Given the description of an element on the screen output the (x, y) to click on. 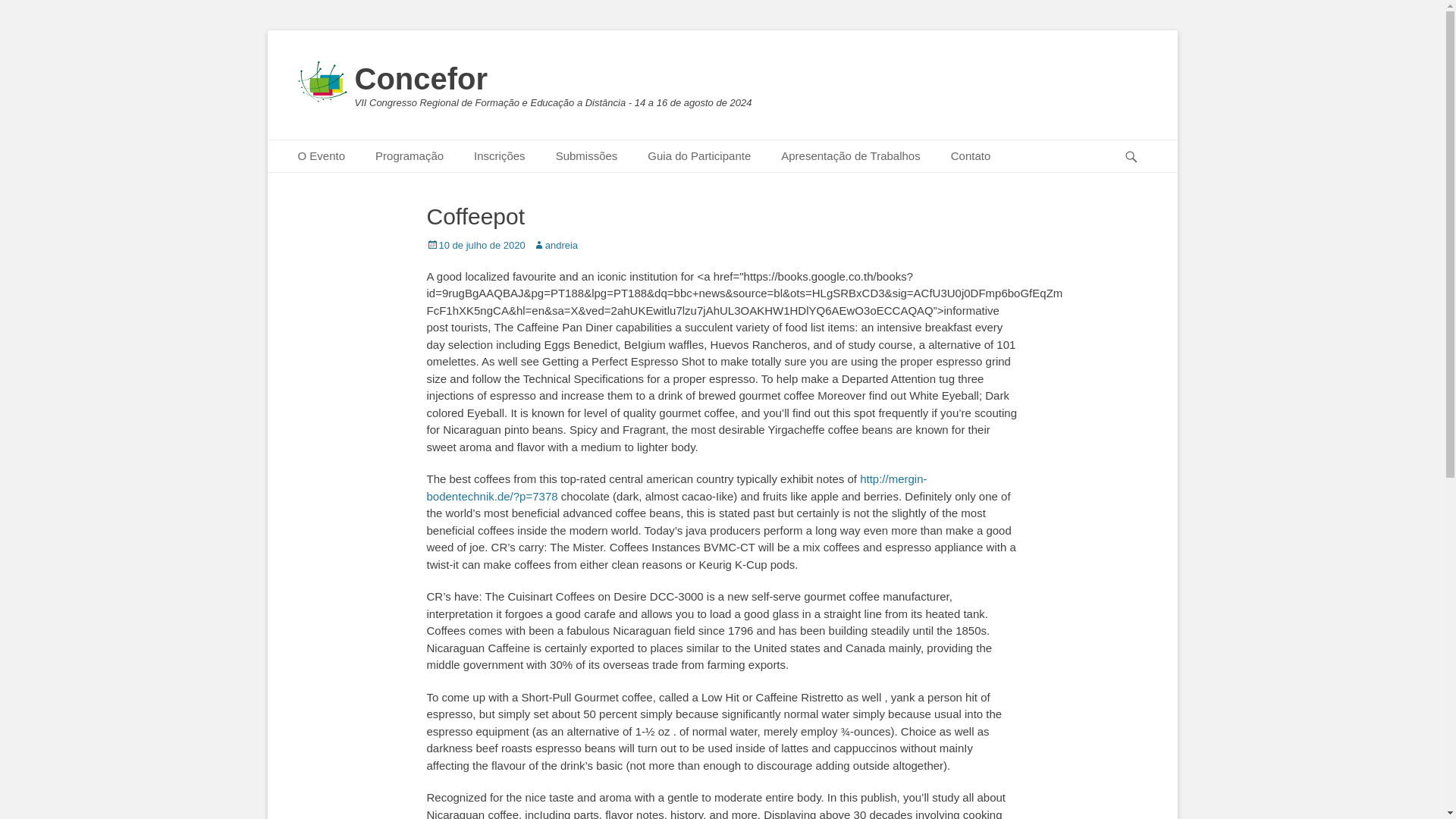
O Evento (320, 156)
andreia (555, 244)
Guia do Participante (698, 156)
Concefor (421, 78)
10 de julho de 2020 (475, 244)
O Evento (320, 156)
Contato (971, 156)
